Given the description of an element on the screen output the (x, y) to click on. 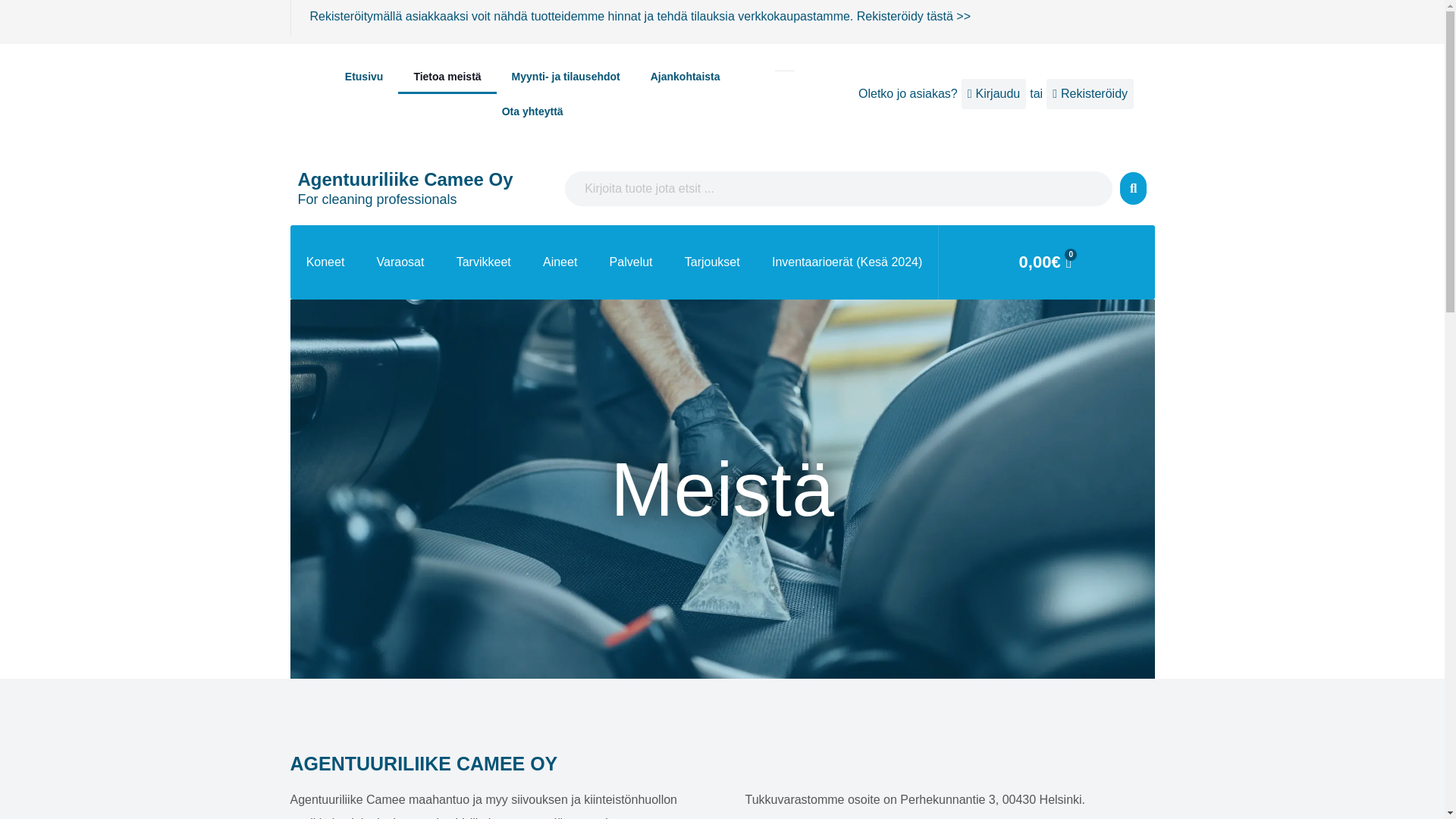
Aineet (560, 262)
Ajankohtaista (684, 76)
Palvelut (630, 262)
Tarvikkeet (484, 262)
Varaosat (399, 262)
For cleaning professionals (377, 199)
Etusivu (364, 76)
Myynti- ja tilausehdot (565, 76)
Koneet (324, 262)
Kirjaudu (993, 93)
Agentuuriliike Camee Oy (404, 178)
Tarjoukset (711, 262)
